Given the description of an element on the screen output the (x, y) to click on. 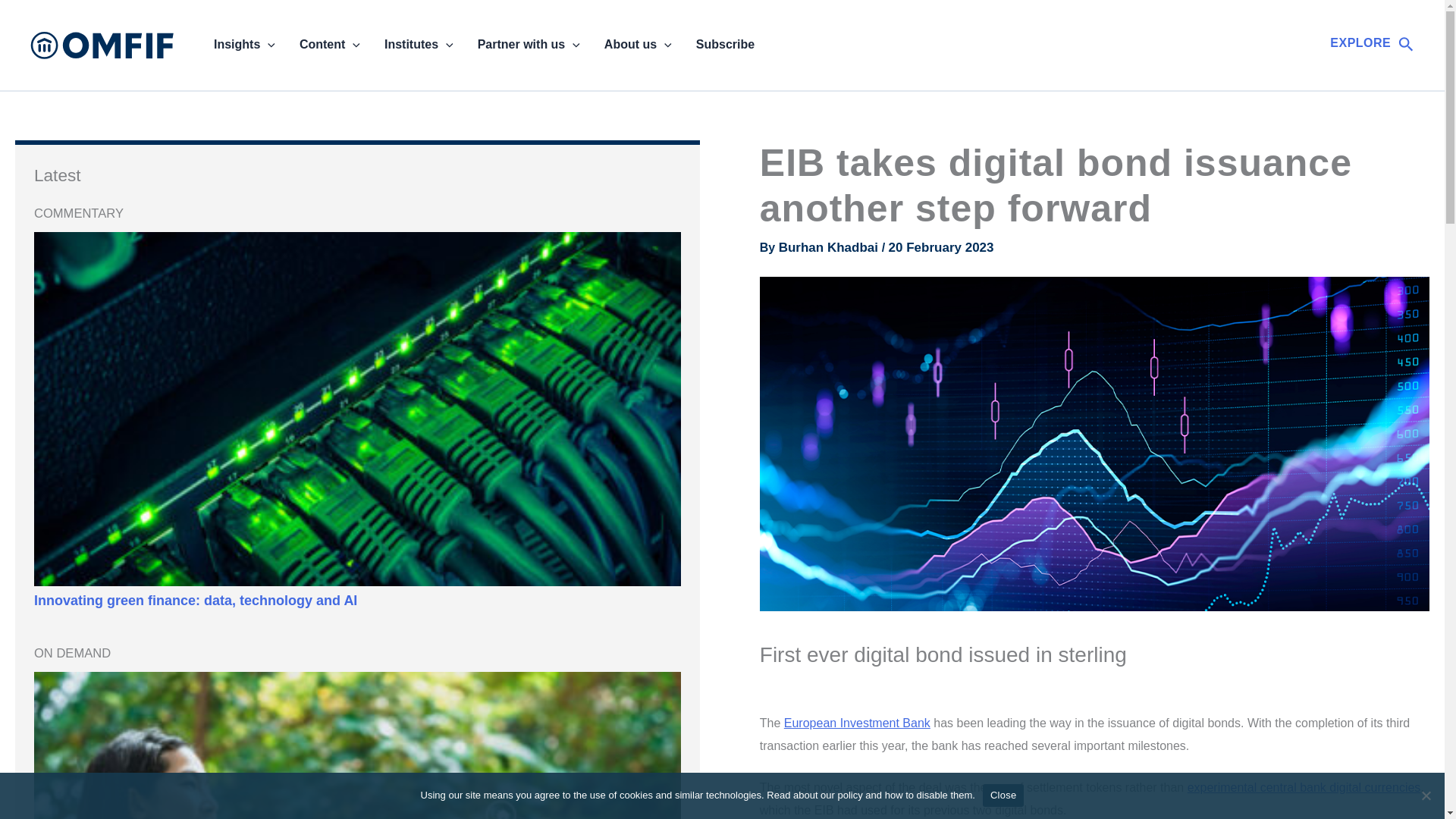
Content (329, 44)
About us (638, 44)
View all posts by Burhan Khadbai (830, 247)
No (1425, 795)
Partner with us (528, 44)
Insights (244, 44)
Institutes (418, 44)
